Given the description of an element on the screen output the (x, y) to click on. 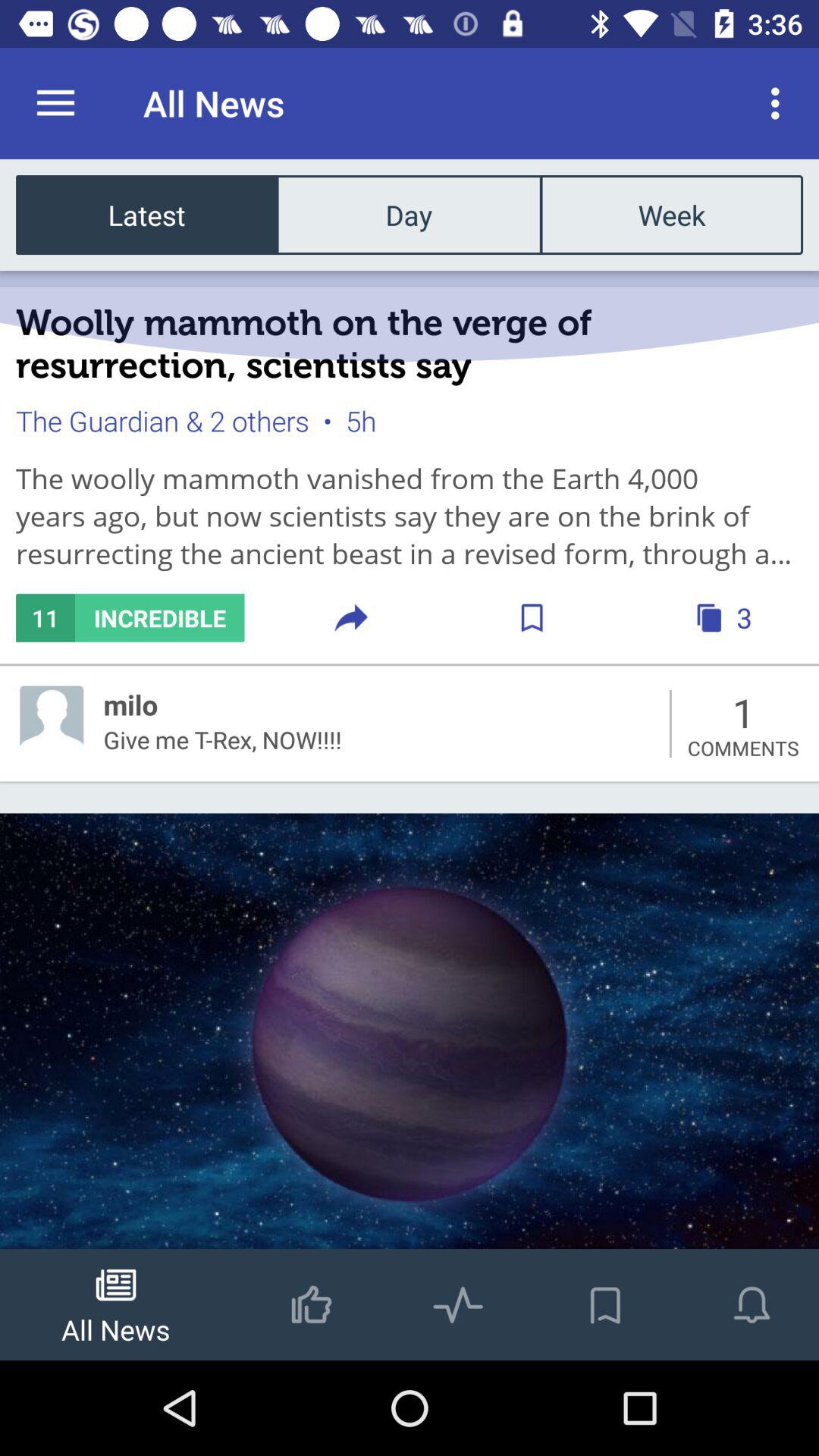
launch the icon above week icon (779, 103)
